Given the description of an element on the screen output the (x, y) to click on. 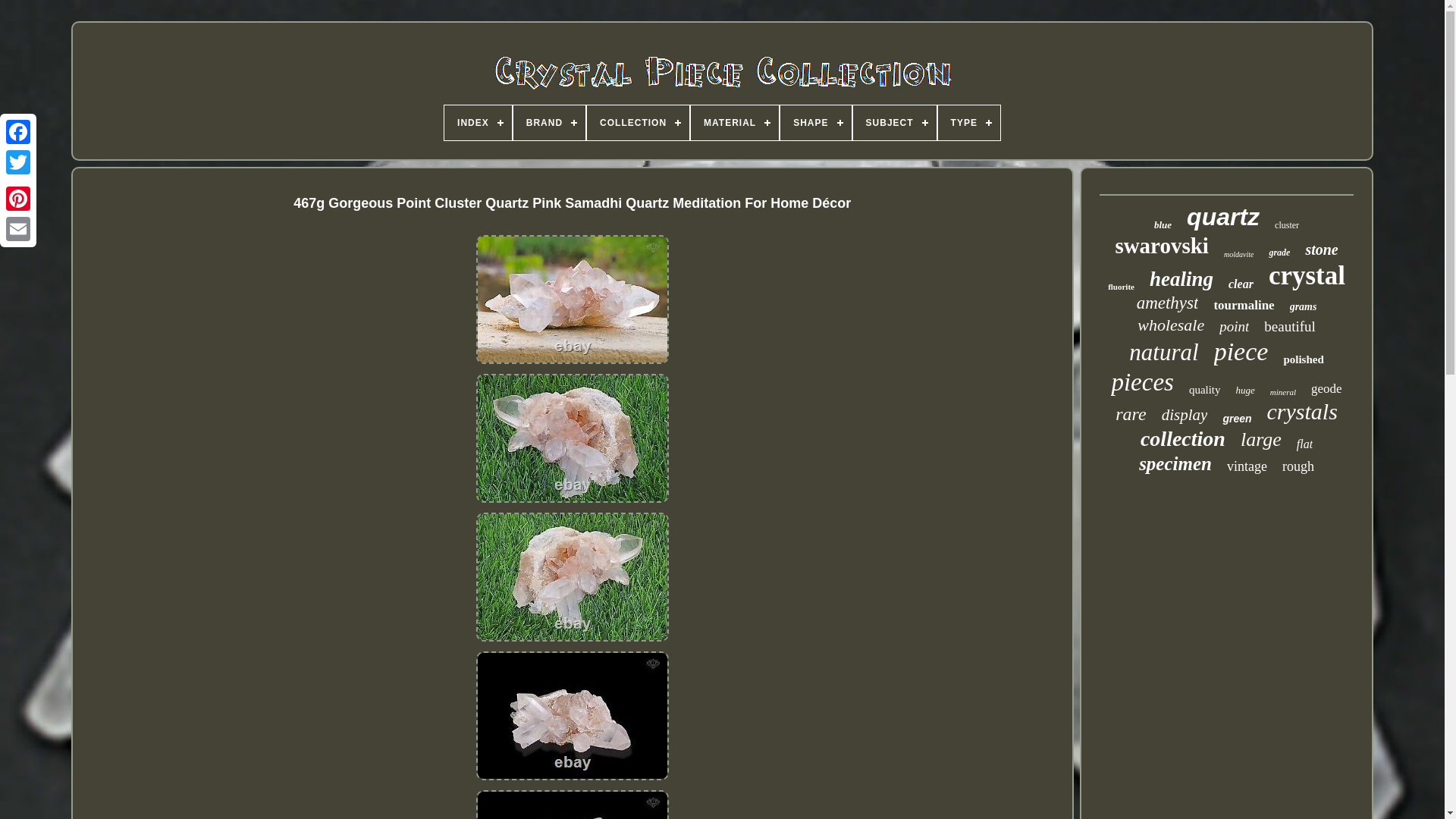
INDEX (478, 122)
COLLECTION (637, 122)
BRAND (549, 122)
